Given the description of an element on the screen output the (x, y) to click on. 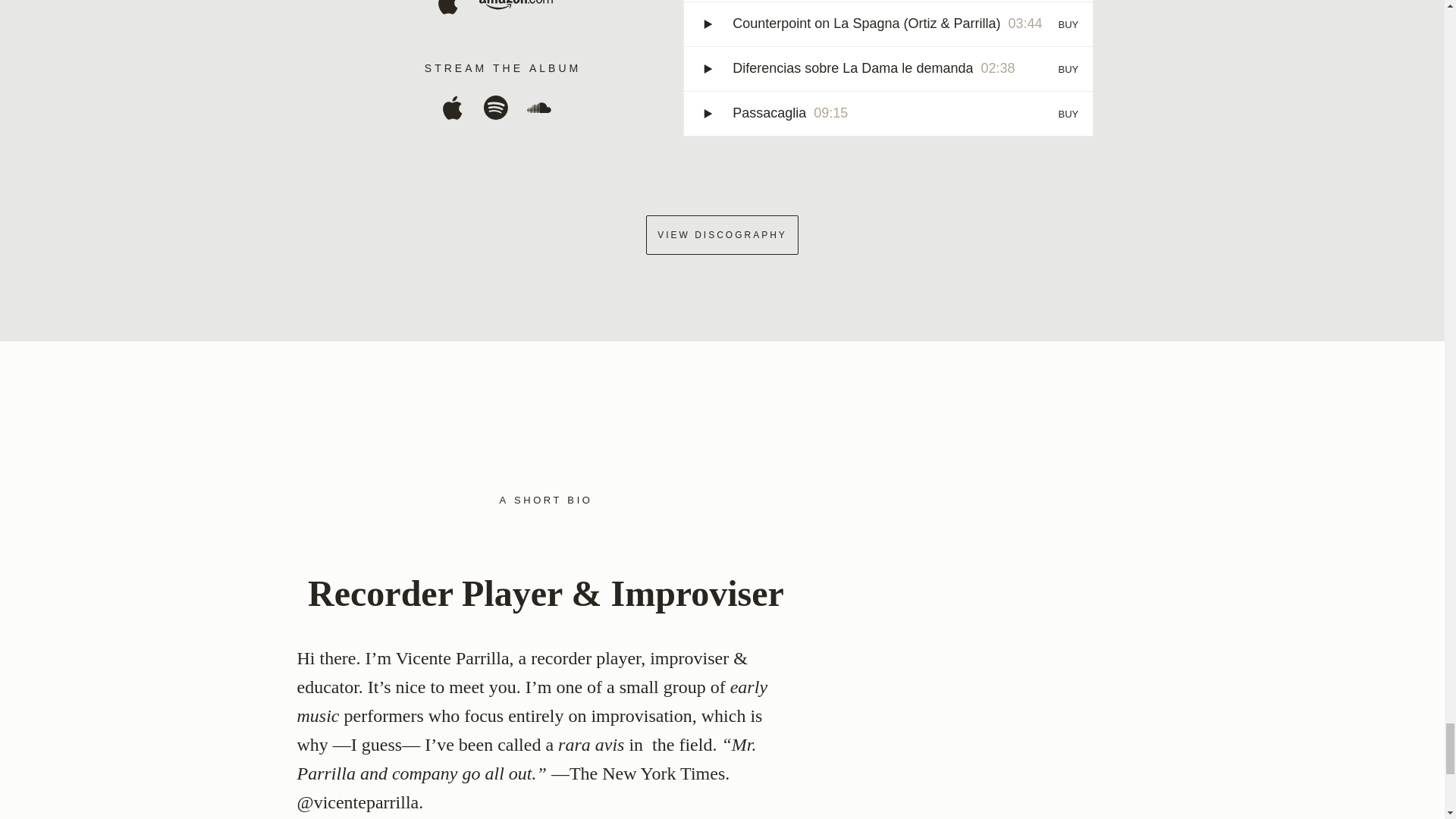
Stream Glosas on Spotify (495, 113)
teaching (327, 686)
Video (689, 658)
Discography (585, 658)
The New York Times (647, 772)
Stream Glosas on Soundcloud (537, 113)
Stream Glosas on Apple Music (451, 113)
Audio (560, 715)
Buy Glosas digital album on Amazon (516, 9)
Buy Glosas on the iTunes Store (447, 9)
